Given the description of an element on the screen output the (x, y) to click on. 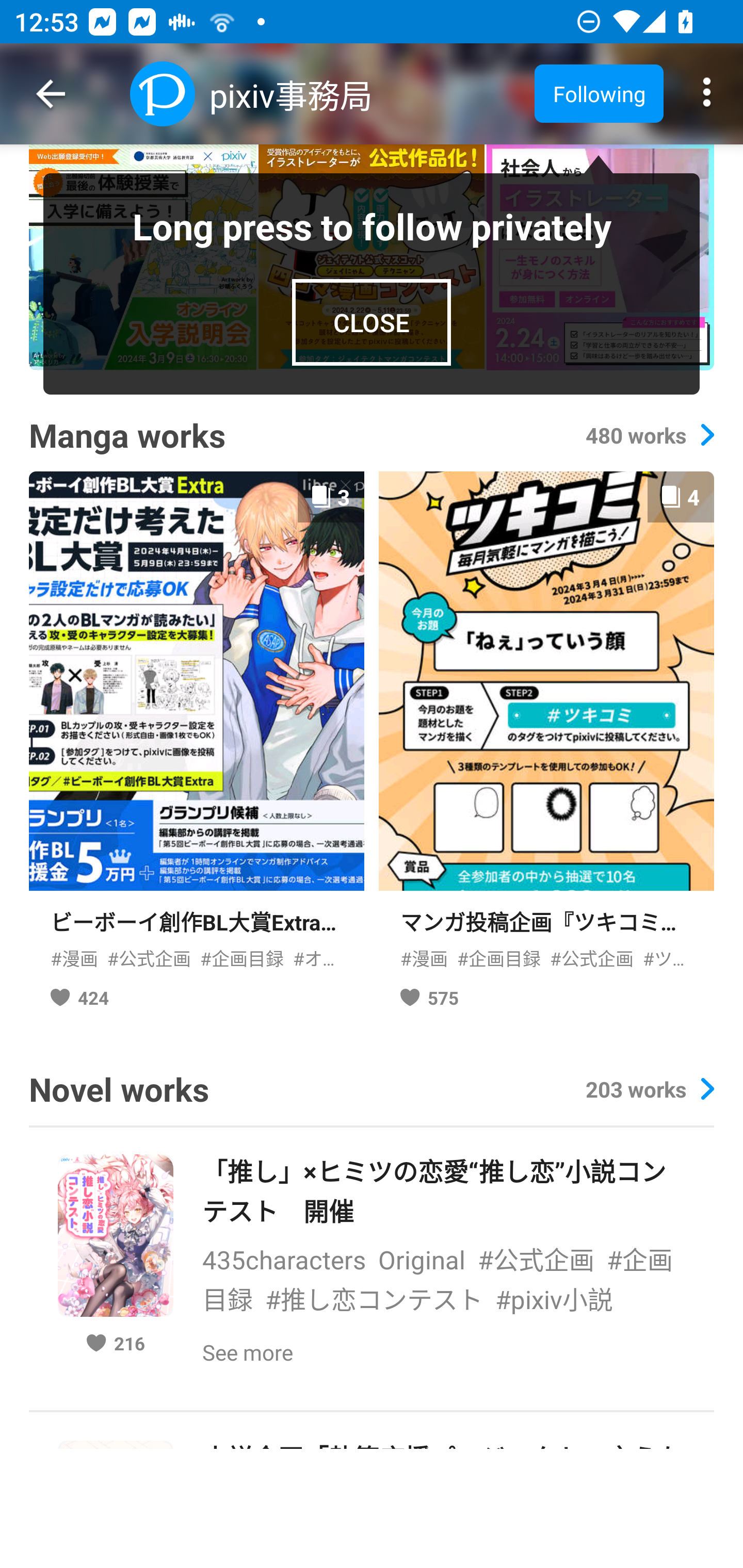
Navigate up (50, 93)
More options (706, 93)
Following (598, 93)
CLOSE (371, 322)
480 works (649, 435)
203 works (649, 1088)
